Given the description of an element on the screen output the (x, y) to click on. 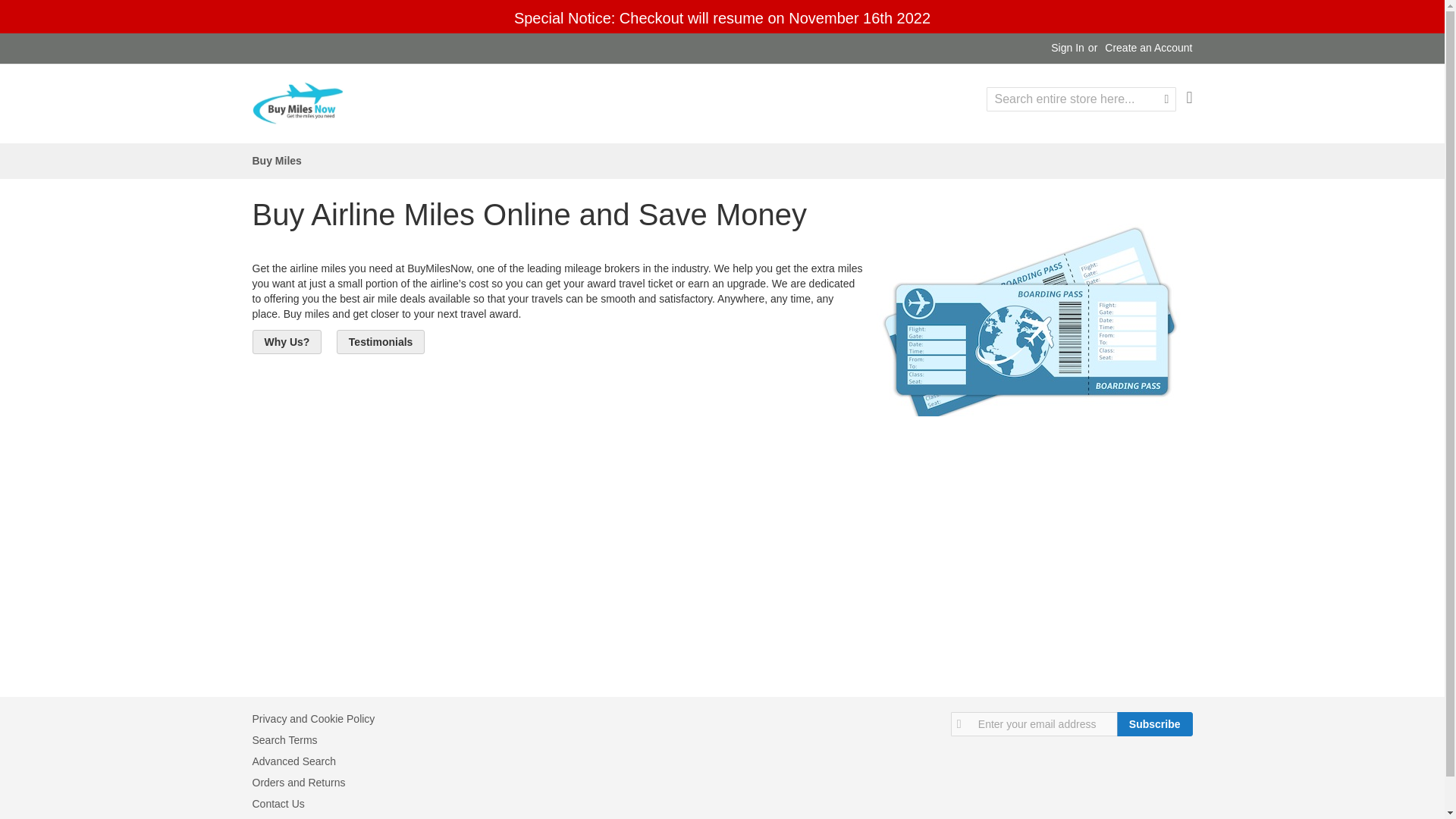
Buy Miles (276, 161)
Search (1166, 98)
Testimonials (380, 341)
Sign In (1067, 48)
Subscribe (1154, 723)
Search Terms (284, 739)
Testimonials (380, 341)
Why Us (286, 341)
Advanced Search (293, 760)
Why Us? (286, 341)
Why Us? (286, 340)
Privacy and Cookie Policy (312, 718)
Testimonials (380, 340)
Search (1166, 98)
My Cart (1189, 97)
